Given the description of an element on the screen output the (x, y) to click on. 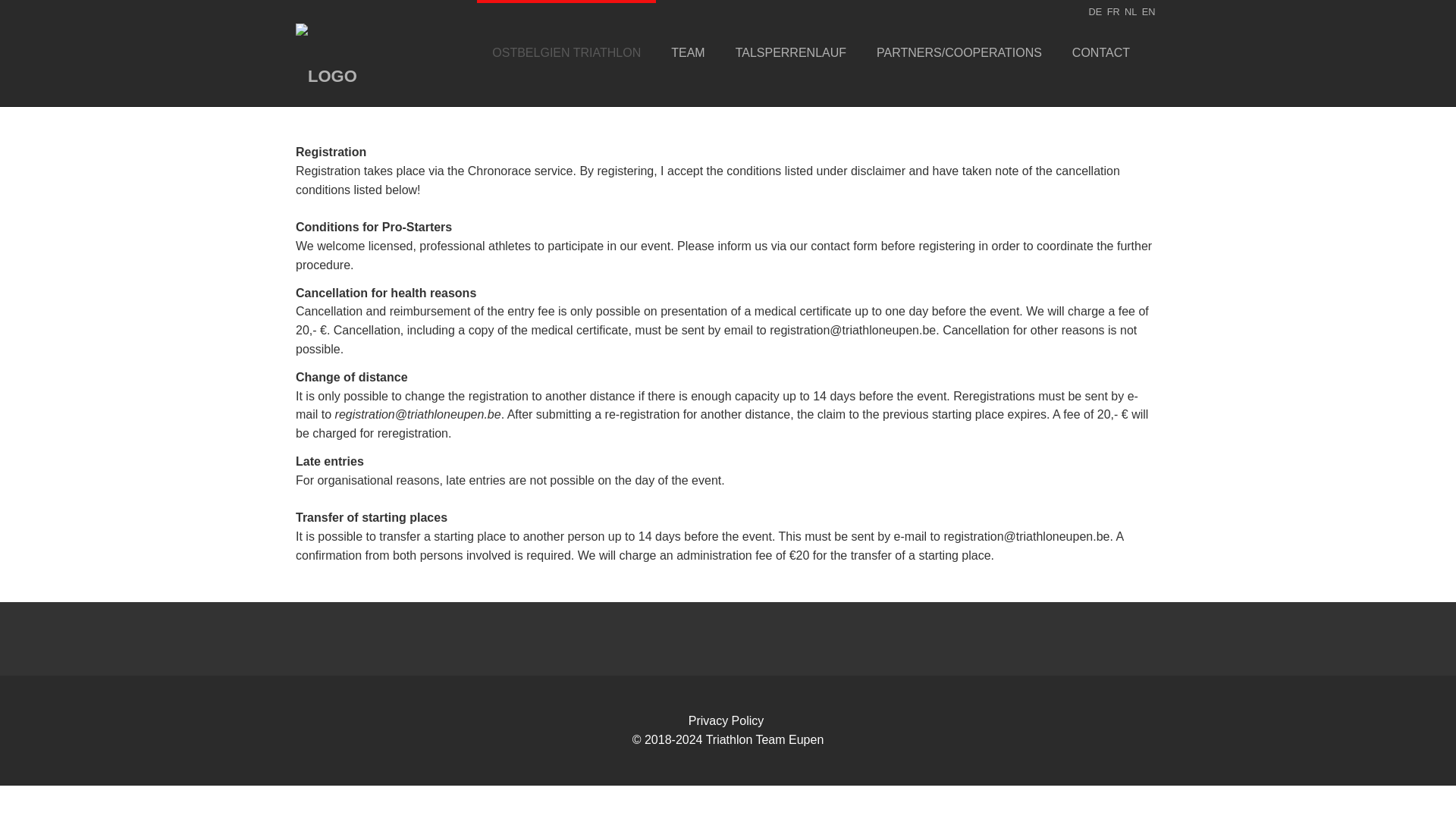
FR (1112, 11)
DE (1094, 11)
CONTACT (1100, 53)
NL (1130, 11)
EN (1148, 11)
NL (1130, 11)
Talsperrenlauf (790, 53)
TEAM (687, 53)
Privacy Policy (726, 720)
OSTBELGIEN TRIATHLON (566, 53)
FR (1112, 11)
EN (1148, 11)
DE (1094, 11)
TALSPERRENLAUF (790, 53)
